Given the description of an element on the screen output the (x, y) to click on. 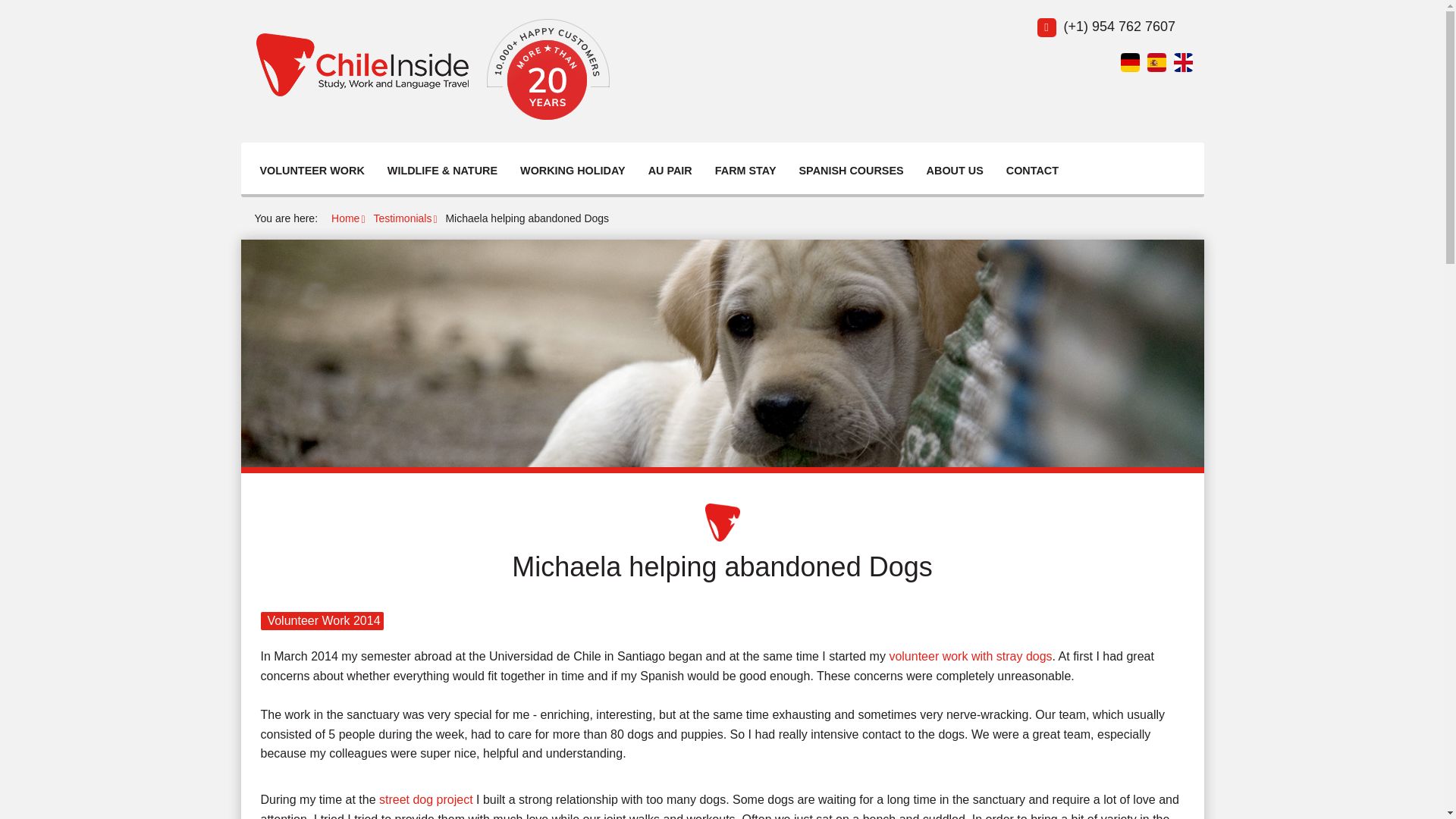
WORKING HOLIDAY (572, 170)
ABOUT US (955, 170)
FARM STAY (745, 170)
Home (345, 218)
CONTACT (1032, 170)
street dog project (425, 799)
ChileInside (721, 522)
VOLUNTEER WORK (311, 170)
SPANISH COURSES (851, 170)
volunteer work with stray dogs (969, 656)
